Given the description of an element on the screen output the (x, y) to click on. 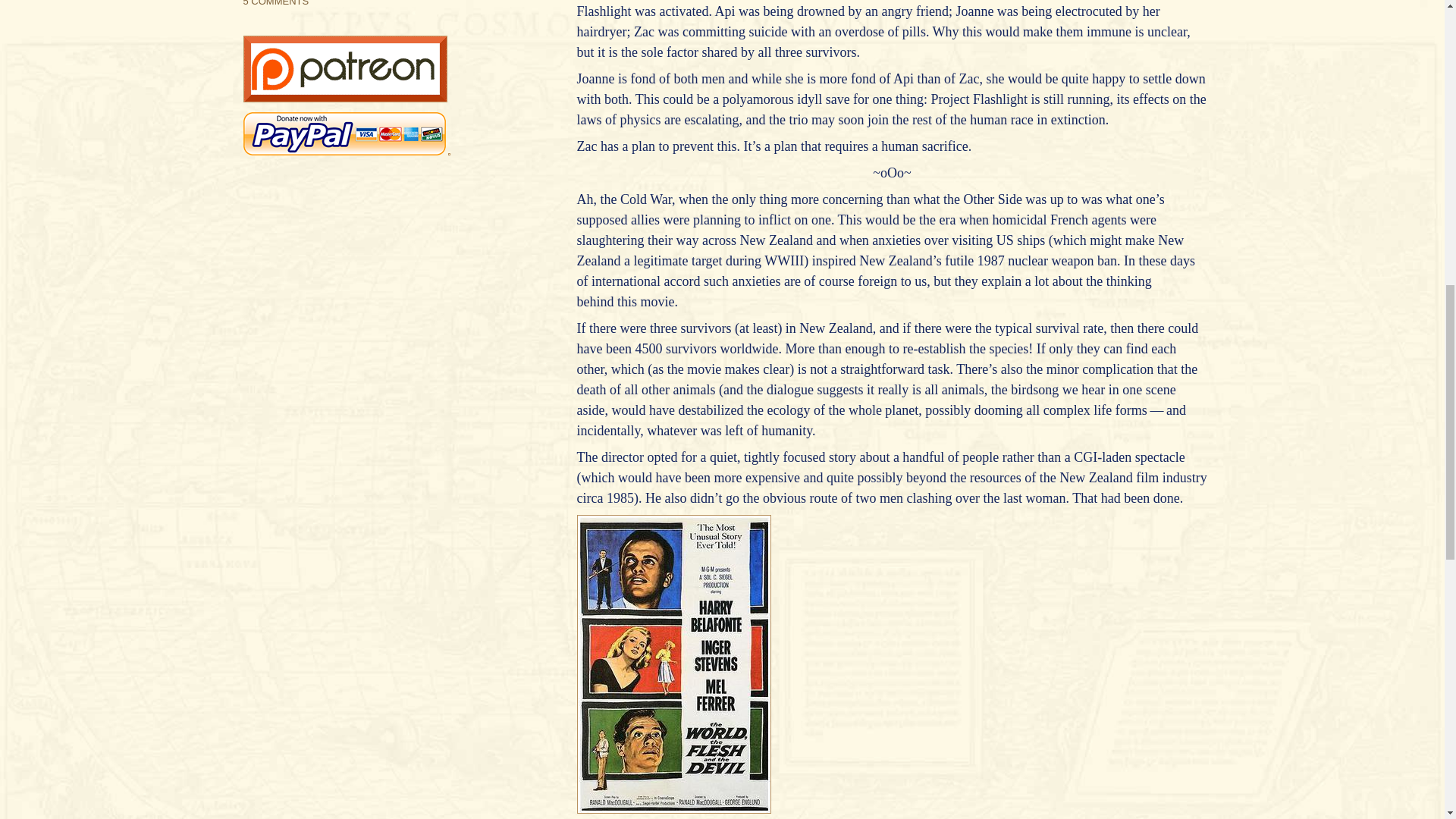
Patreon (344, 97)
5 comments (275, 3)
